Given the description of an element on the screen output the (x, y) to click on. 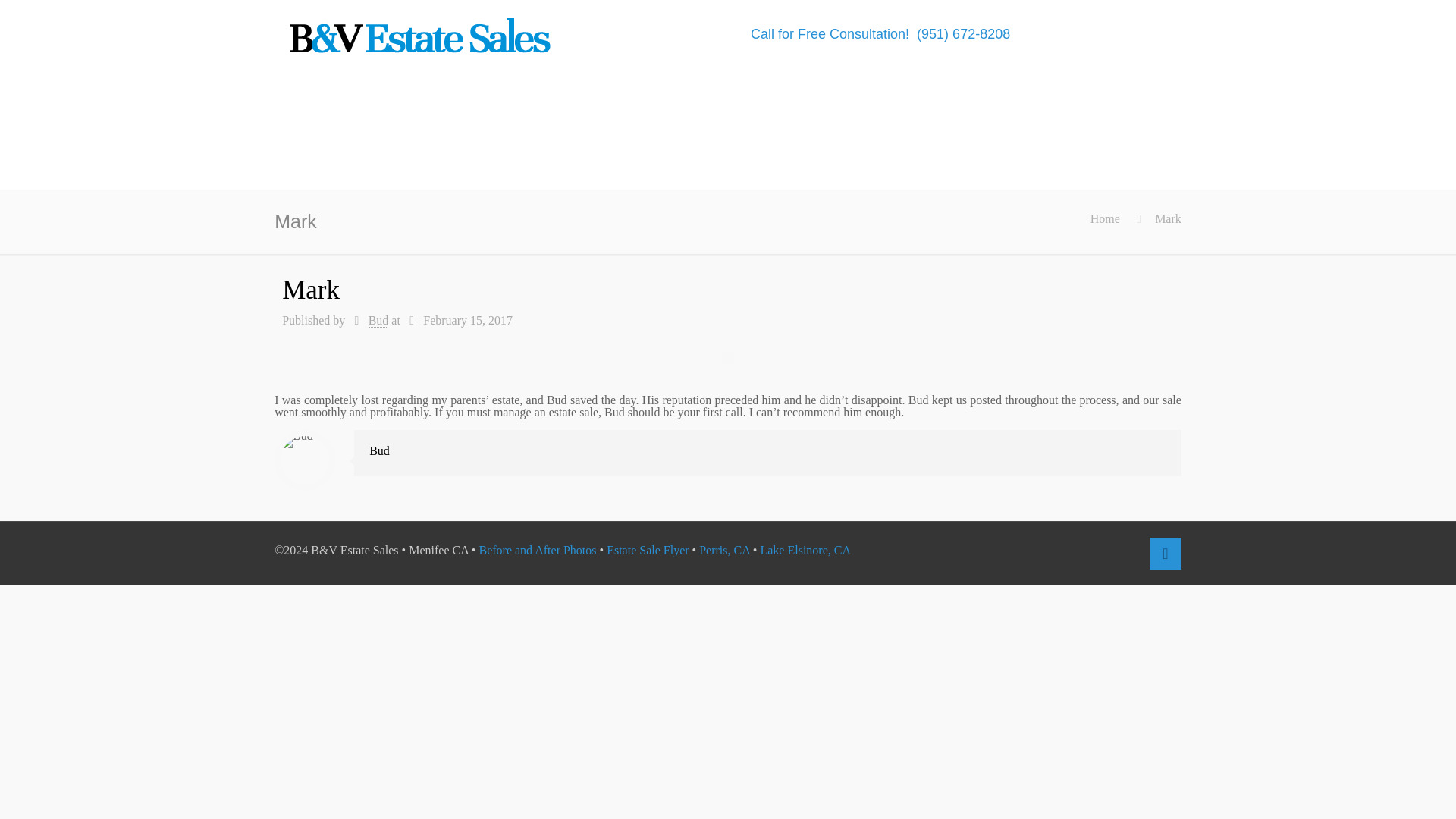
Bud (379, 450)
Before and After Photos (537, 549)
Home (1104, 218)
Lake Elsinore, CA (805, 549)
Estate Sale Company in Lake Elsinore, CA (805, 549)
Bud (378, 320)
Estate Sale Flyer (647, 549)
Estate Sale Company in Perris, CA (723, 549)
Perris, CA (723, 549)
